Given the description of an element on the screen output the (x, y) to click on. 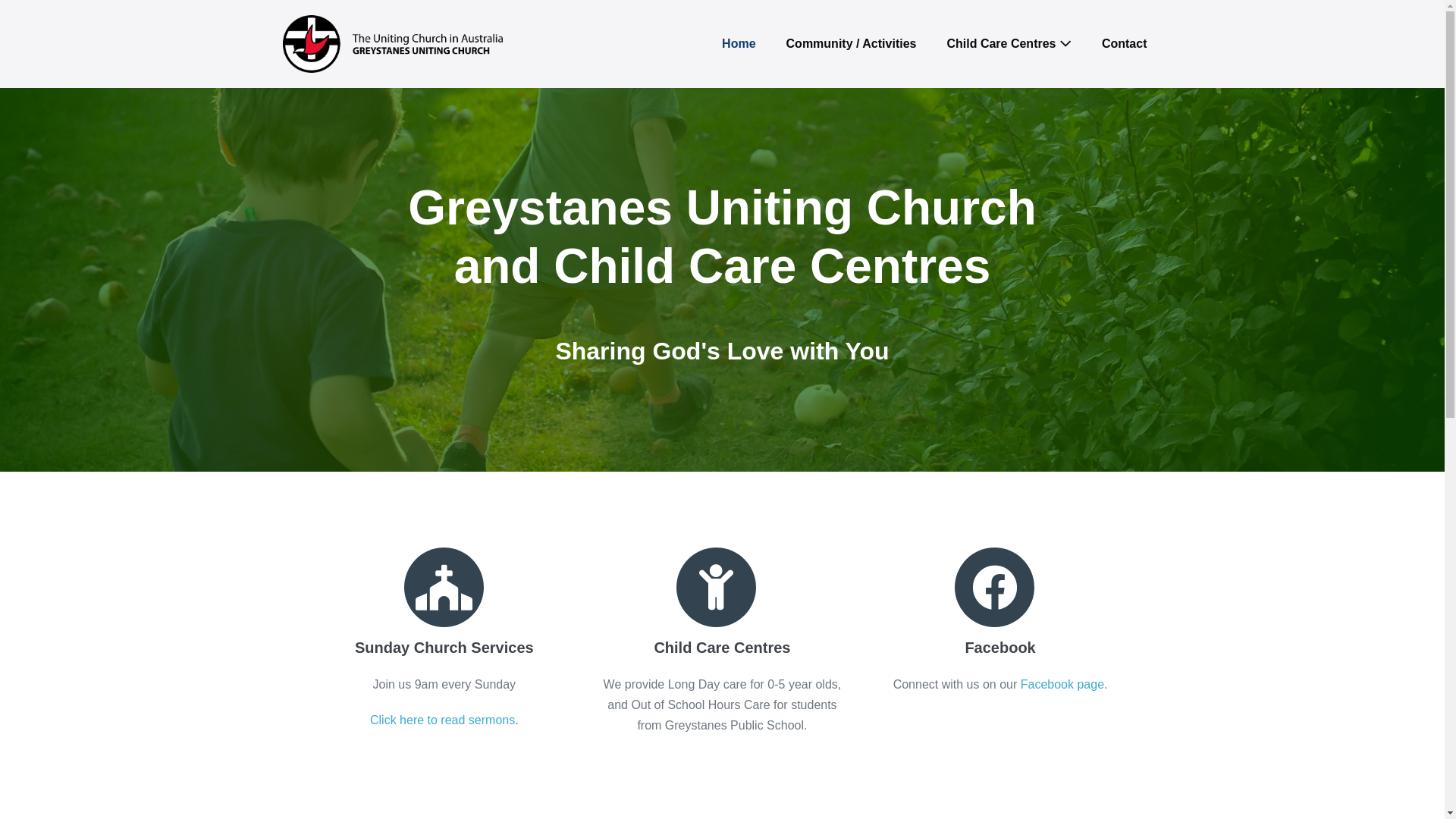
Child Care Centres Element type: text (1008, 43)
Community / Activities Element type: text (851, 43)
Contact Element type: text (1124, 43)
Facebook page Element type: text (1062, 683)
Greystanes Uniting Church Element type: hover (392, 43)
Click here to read sermons Element type: text (442, 719)
Home Element type: text (738, 43)
